Given the description of an element on the screen output the (x, y) to click on. 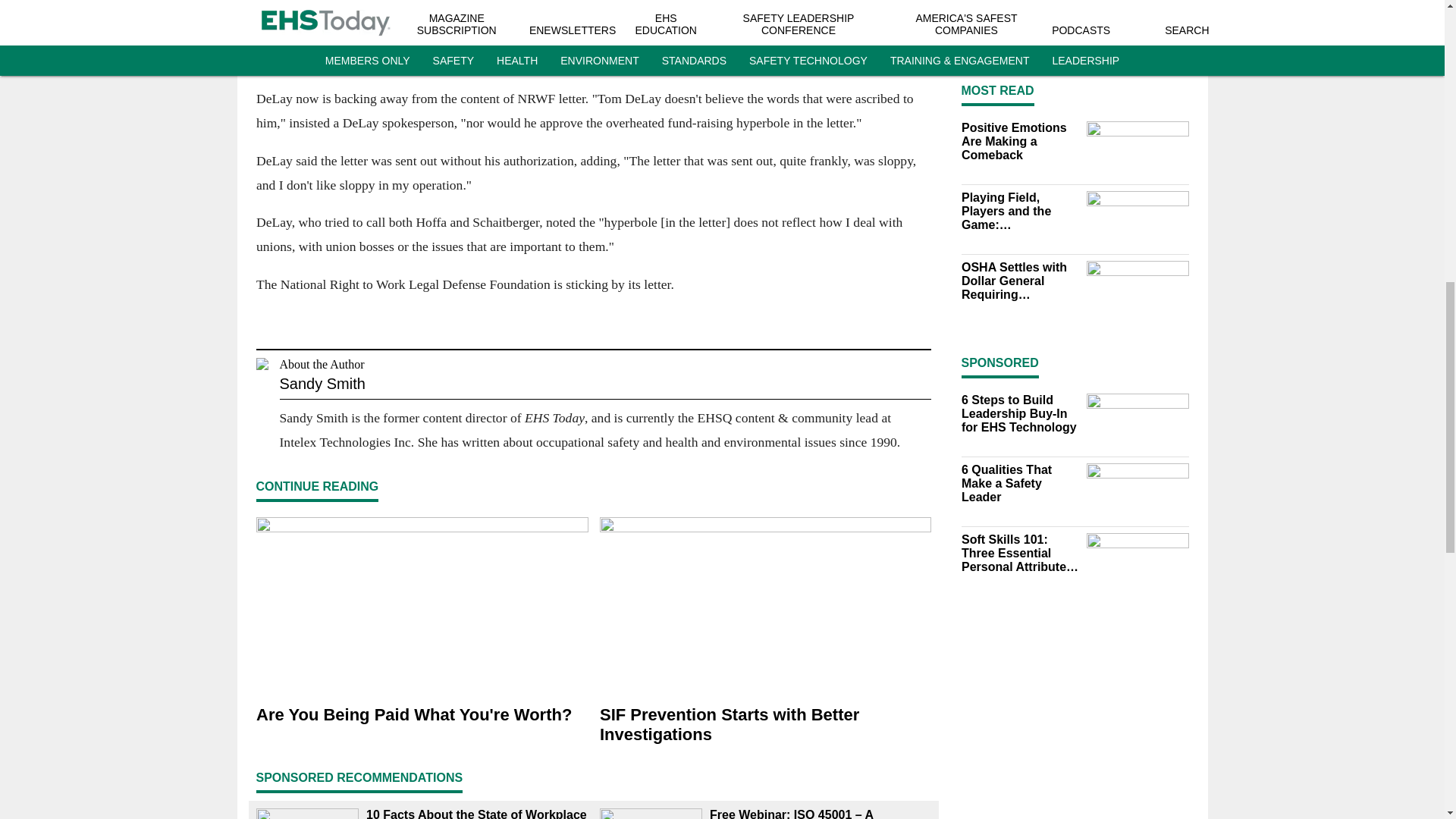
SIF Prevention Starts with Better Investigations (764, 725)
Are You Being Paid What You're Worth? (422, 715)
10 Facts About the State of Workplace Safety in the U.S. (476, 813)
